Given the description of an element on the screen output the (x, y) to click on. 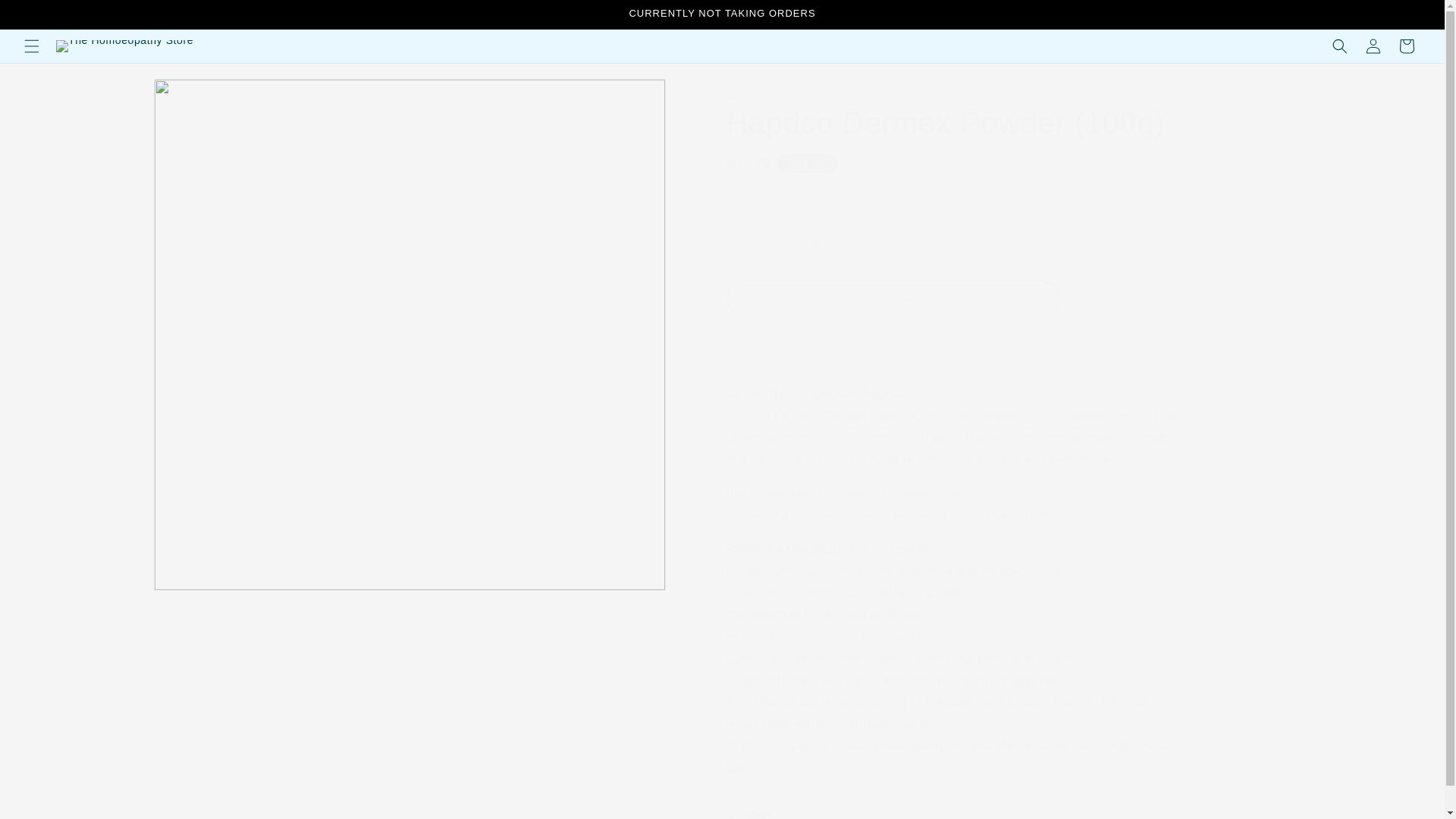
Cart (1406, 46)
1 (780, 243)
Skip to product information (200, 97)
Skip to content (47, 18)
Log in (1373, 46)
Sold out (892, 299)
